Given the description of an element on the screen output the (x, y) to click on. 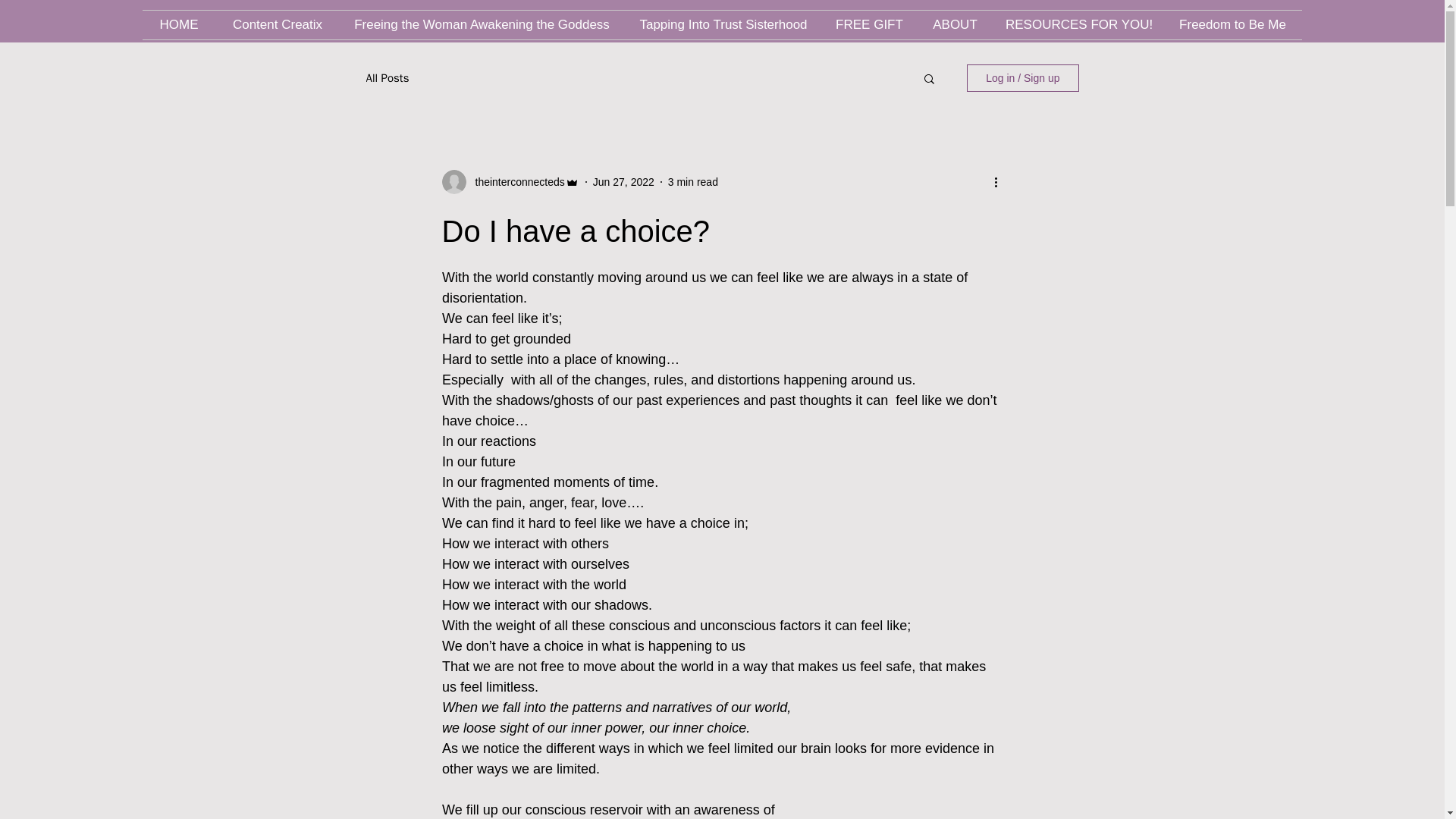
Freeing the Woman Awakening the Goddess (481, 24)
Content Creatix (277, 24)
3 min read (692, 182)
RESOURCES FOR YOU! (1078, 24)
Freedom to Be Me (1232, 24)
Jun 27, 2022 (622, 182)
Tapping Into Trust Sisterhood (723, 24)
FREE GIFT (868, 24)
HOME (178, 24)
theinterconnecteds (514, 182)
All Posts (387, 78)
ABOUT (954, 24)
